Given the description of an element on the screen output the (x, y) to click on. 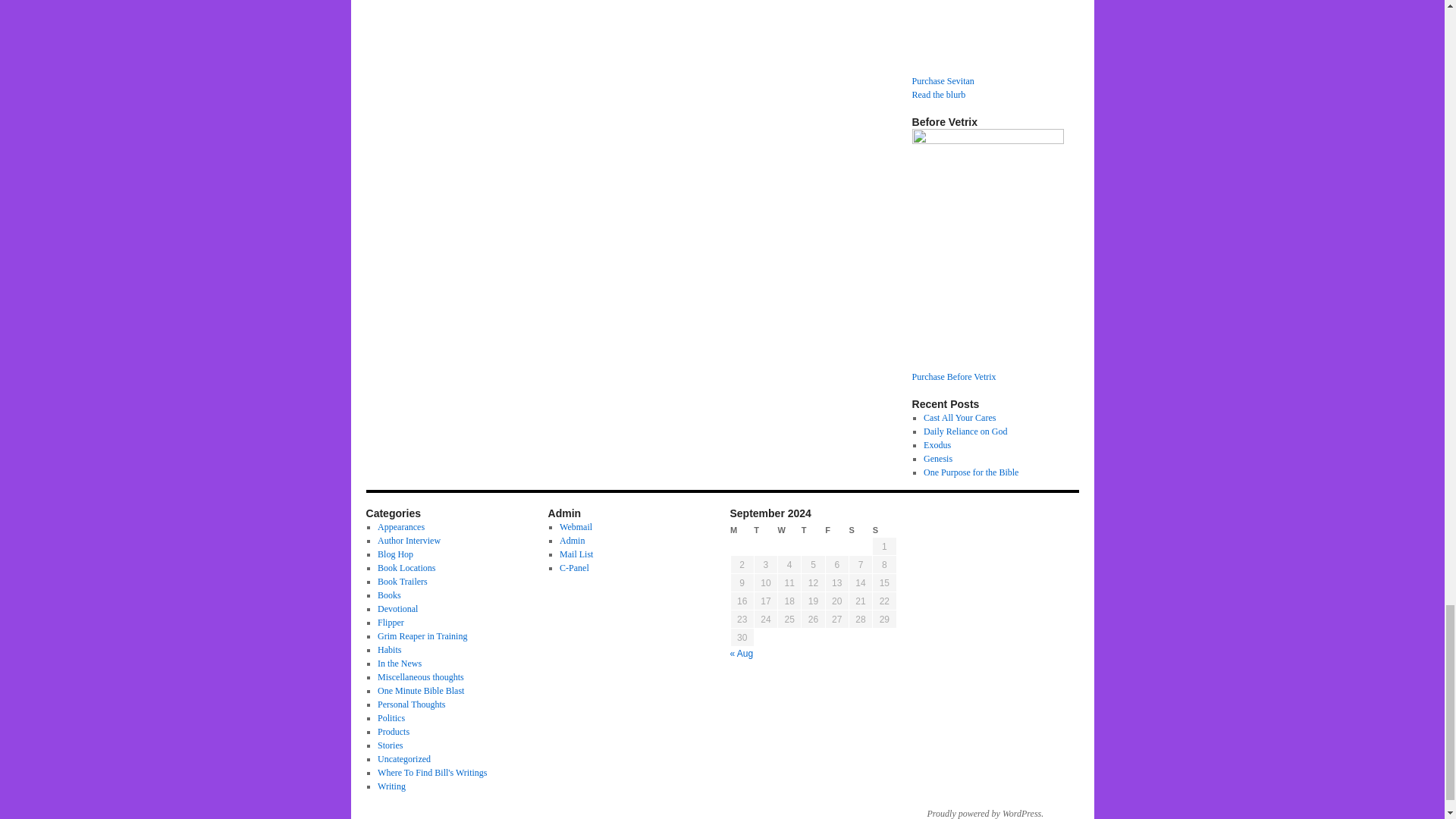
Thursday (813, 530)
Friday (836, 530)
Wednesday (789, 530)
Sunday (884, 530)
Saturday (860, 530)
Tuesday (765, 530)
Monday (742, 530)
